Given the description of an element on the screen output the (x, y) to click on. 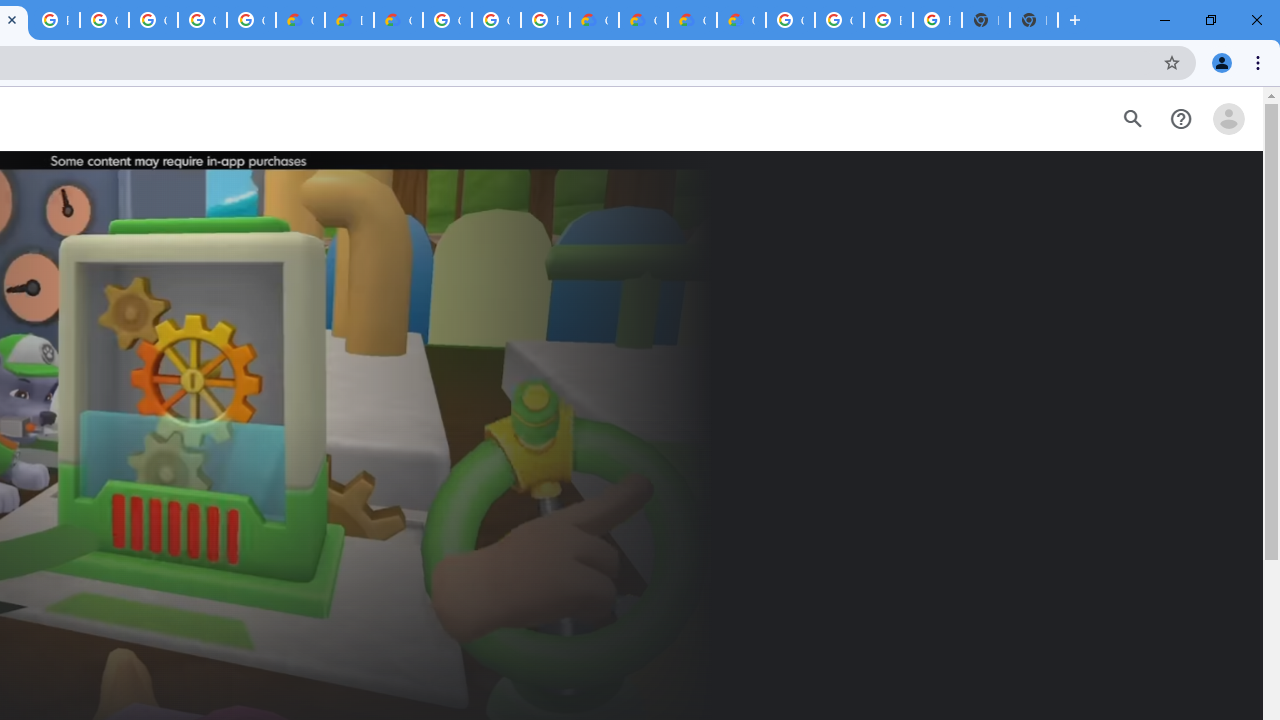
Google Workspace - Specific Terms (201, 20)
Google Cloud Platform (496, 20)
Customer Care | Google Cloud (594, 20)
Gemini for Business and Developers | Google Cloud (398, 20)
Google Cloud Platform (839, 20)
Google Cloud Pricing Calculator (692, 20)
Open account menu (1228, 119)
